Given the description of an element on the screen output the (x, y) to click on. 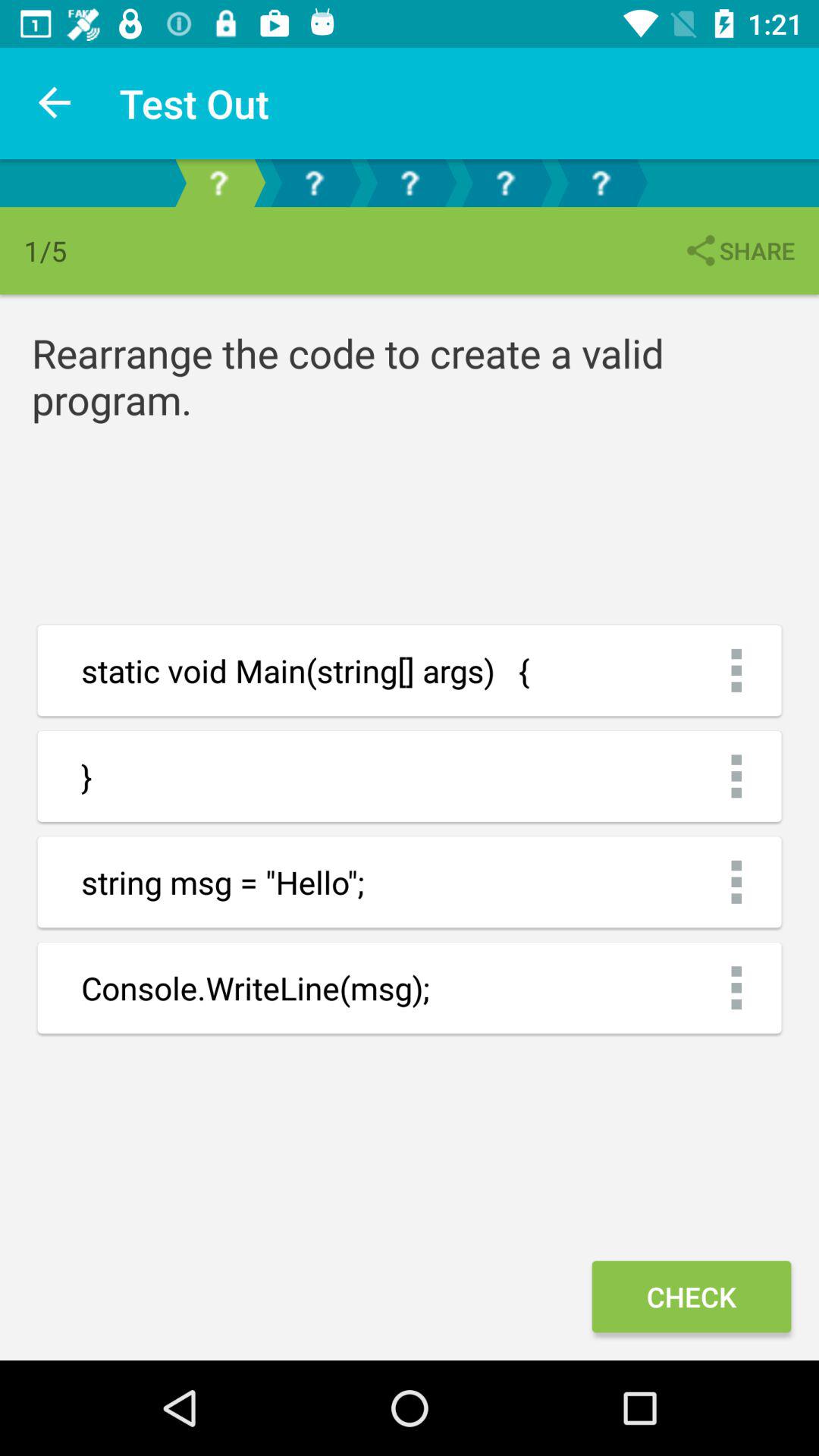
swipe until the share (738, 250)
